Given the description of an element on the screen output the (x, y) to click on. 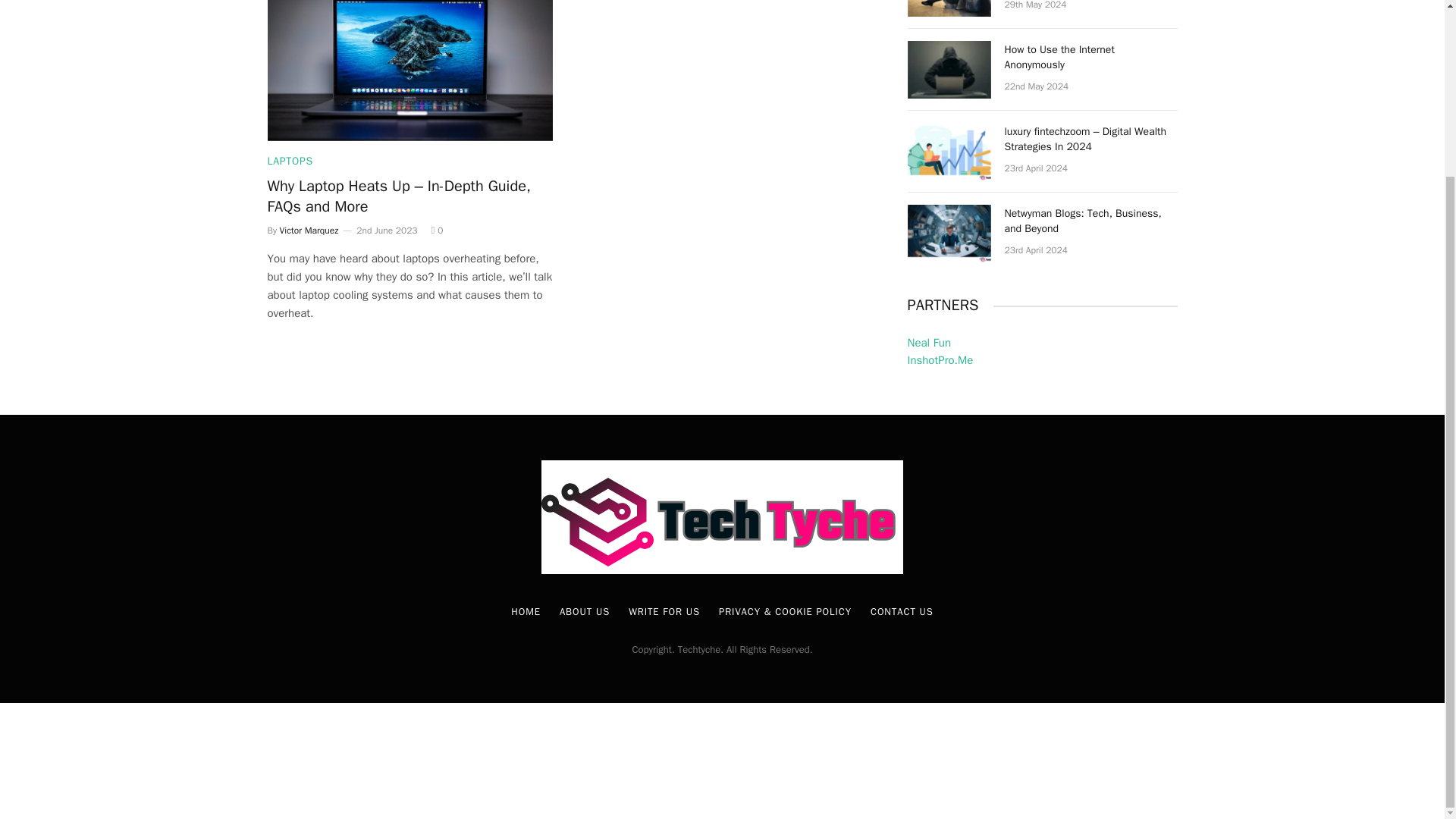
Posts by Victor Marquez (309, 230)
How to Use the Internet Anonymously (948, 69)
Netwyman Blogs: Tech, Business, and Beyond (948, 233)
Which Variation of Online Poker Is Right for You? (948, 8)
